Given the description of an element on the screen output the (x, y) to click on. 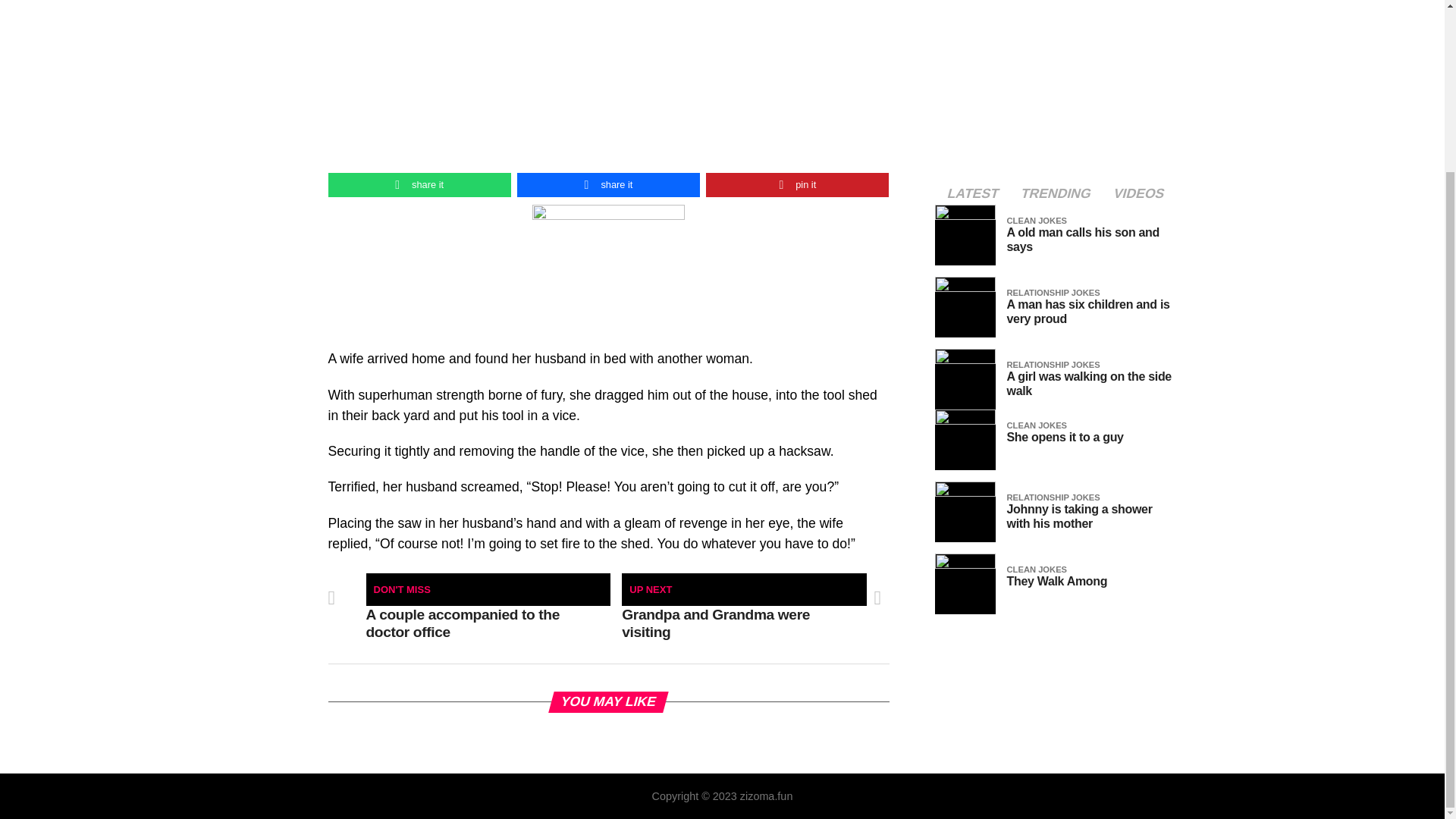
Share this on Facebook (608, 184)
share it (608, 184)
WhatsApp (419, 184)
VIDEOS (1138, 193)
Submit this to Pinterest (797, 184)
share it (419, 184)
TRENDING (1055, 193)
pin it (797, 184)
LATEST (973, 193)
